Given the description of an element on the screen output the (x, y) to click on. 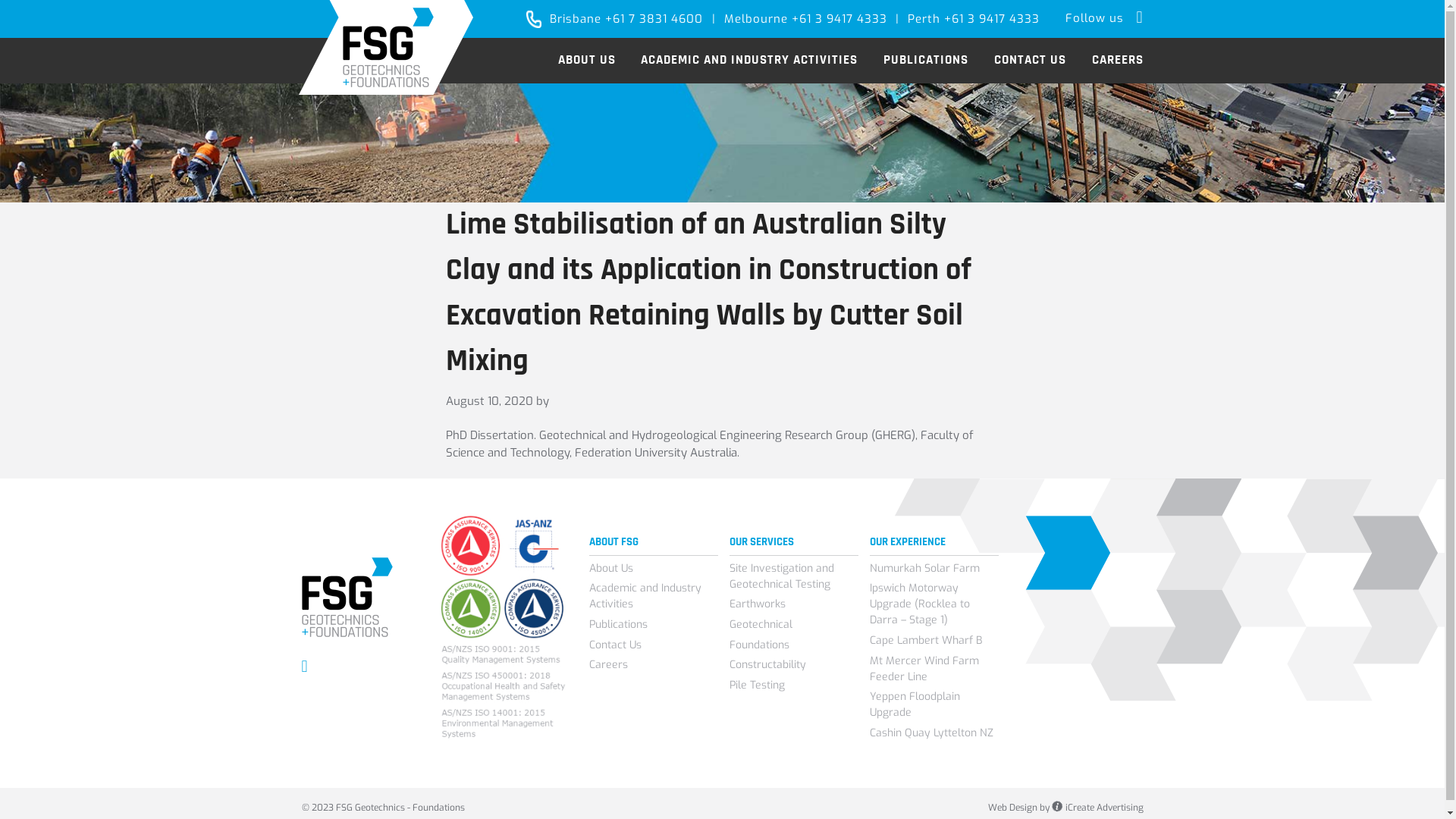
Numurkah Solar Farm Element type: text (933, 568)
Constructability Element type: text (793, 664)
Site Investigation and Geotechnical Testing Element type: text (793, 576)
Melbourne +61 3 9417 4333 Element type: text (805, 19)
Yeppen Floodplain Upgrade Element type: text (933, 704)
Skip to primary navigation Element type: text (0, 0)
FSG Geotechnics - Foundations Element type: text (385, 47)
About Us Element type: text (653, 568)
ABOUT US Element type: text (586, 59)
ACADEMIC AND INDUSTRY ACTIVITIES Element type: text (748, 59)
PUBLICATIONS Element type: text (925, 59)
Careers Element type: text (653, 664)
Publications Element type: text (653, 624)
Earthworks Element type: text (793, 603)
Pile Testing Element type: text (793, 685)
Brisbane +61 7 3831 4600 Element type: text (625, 19)
Cashin Quay Lyttelton NZ Element type: text (933, 732)
CONTACT US Element type: text (1030, 59)
CAREERS Element type: text (1117, 59)
Mt Mercer Wind Farm Feeder Line Element type: text (933, 668)
Geotechnical Element type: text (793, 624)
Foundations Element type: text (793, 644)
LinkedIn Element type: text (1138, 16)
Contact Us Element type: text (653, 644)
Perth +61 3 9417 4333 Element type: text (973, 19)
Academic and Industry Activities Element type: text (653, 595)
iCreate Advertising Element type: text (1096, 806)
Cape Lambert Wharf B Element type: text (933, 640)
